Given the description of an element on the screen output the (x, y) to click on. 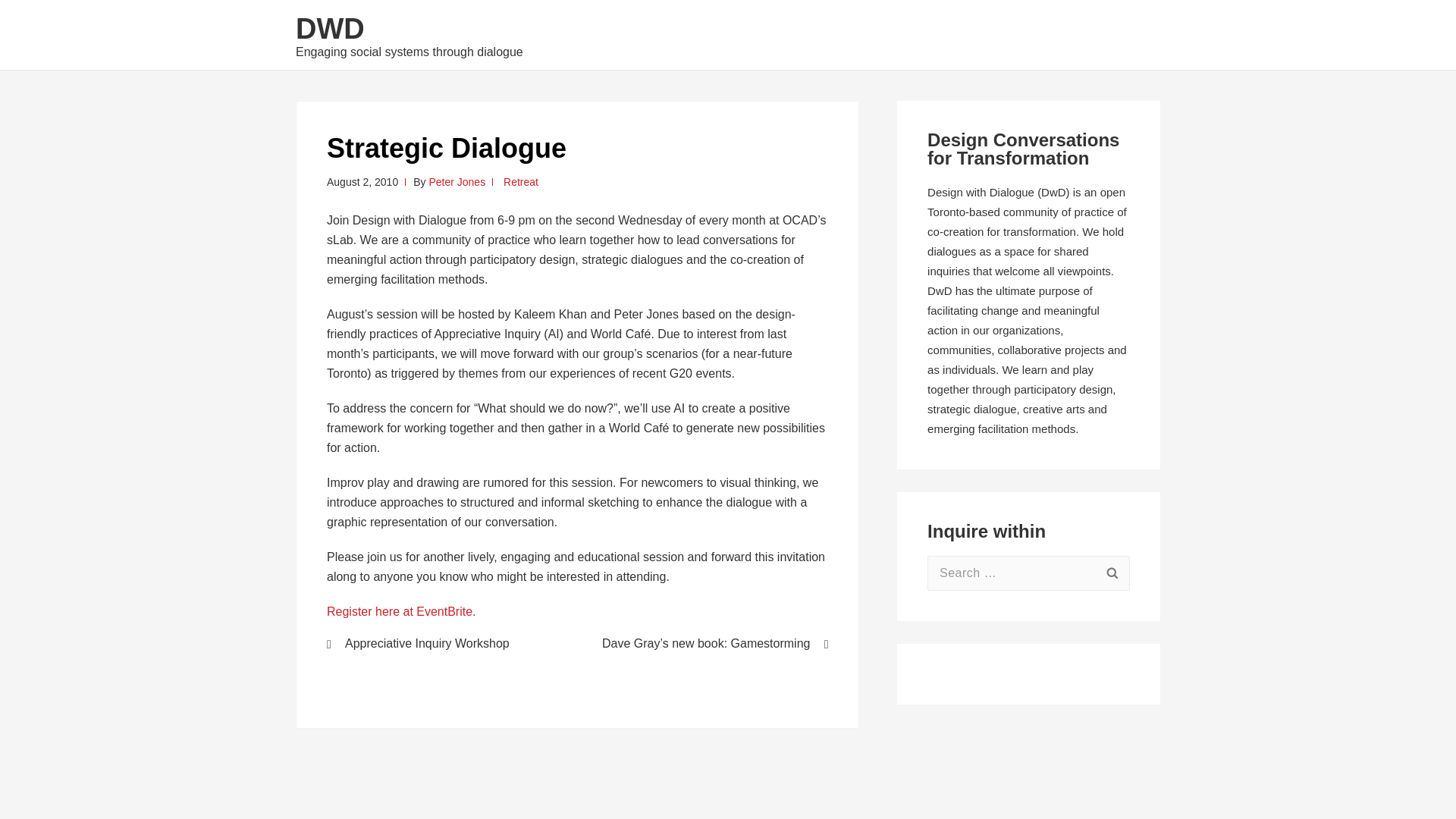
Appreciative Inquiry Workshop (441, 643)
Search (1111, 573)
Peter Jones (456, 182)
Search (1111, 573)
DWD (330, 29)
Search (1111, 573)
View all posts by Peter Jones (456, 182)
Retreat (520, 182)
Register here at EventBrite. (401, 611)
